Given the description of an element on the screen output the (x, y) to click on. 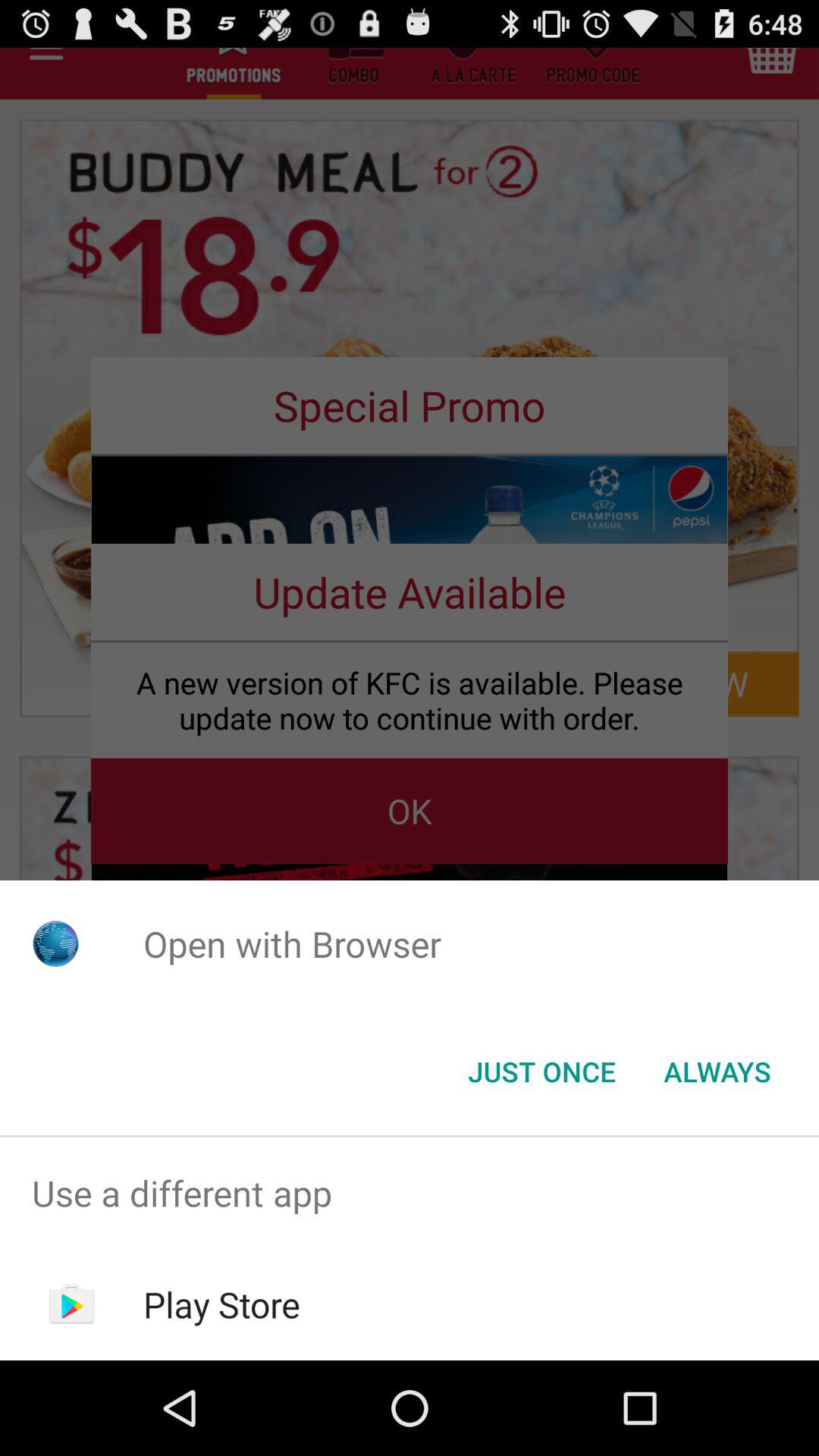
swipe until the use a different app (409, 1192)
